Given the description of an element on the screen output the (x, y) to click on. 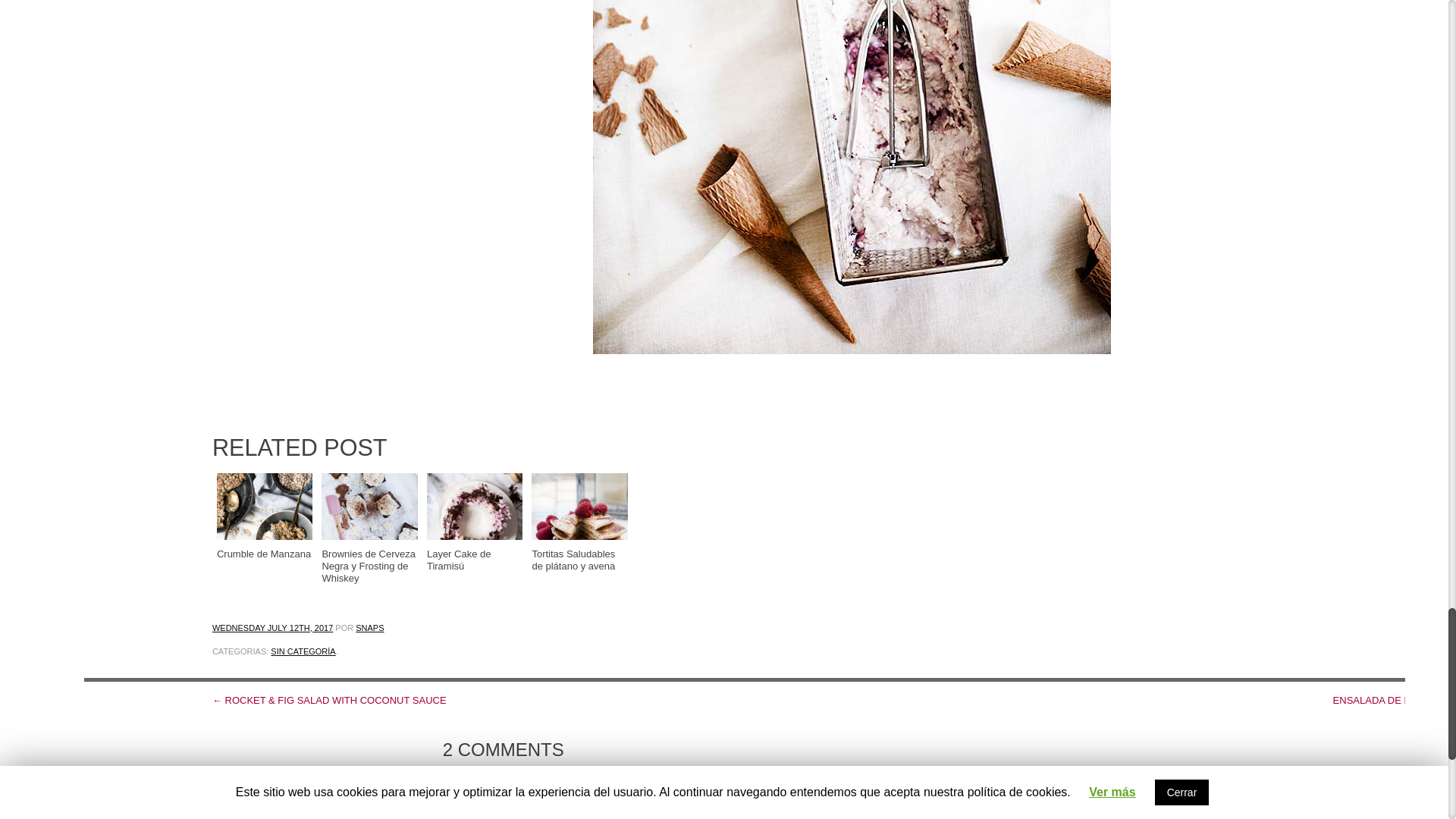
Crumble de Manzana (264, 516)
View all posts by snaps (369, 627)
WEDNESDAY JULY 12TH, 2017 (272, 627)
SNAPS (369, 627)
07.21.24 at 10:47:24 (309, 818)
08:00 AM (272, 627)
